Given the description of an element on the screen output the (x, y) to click on. 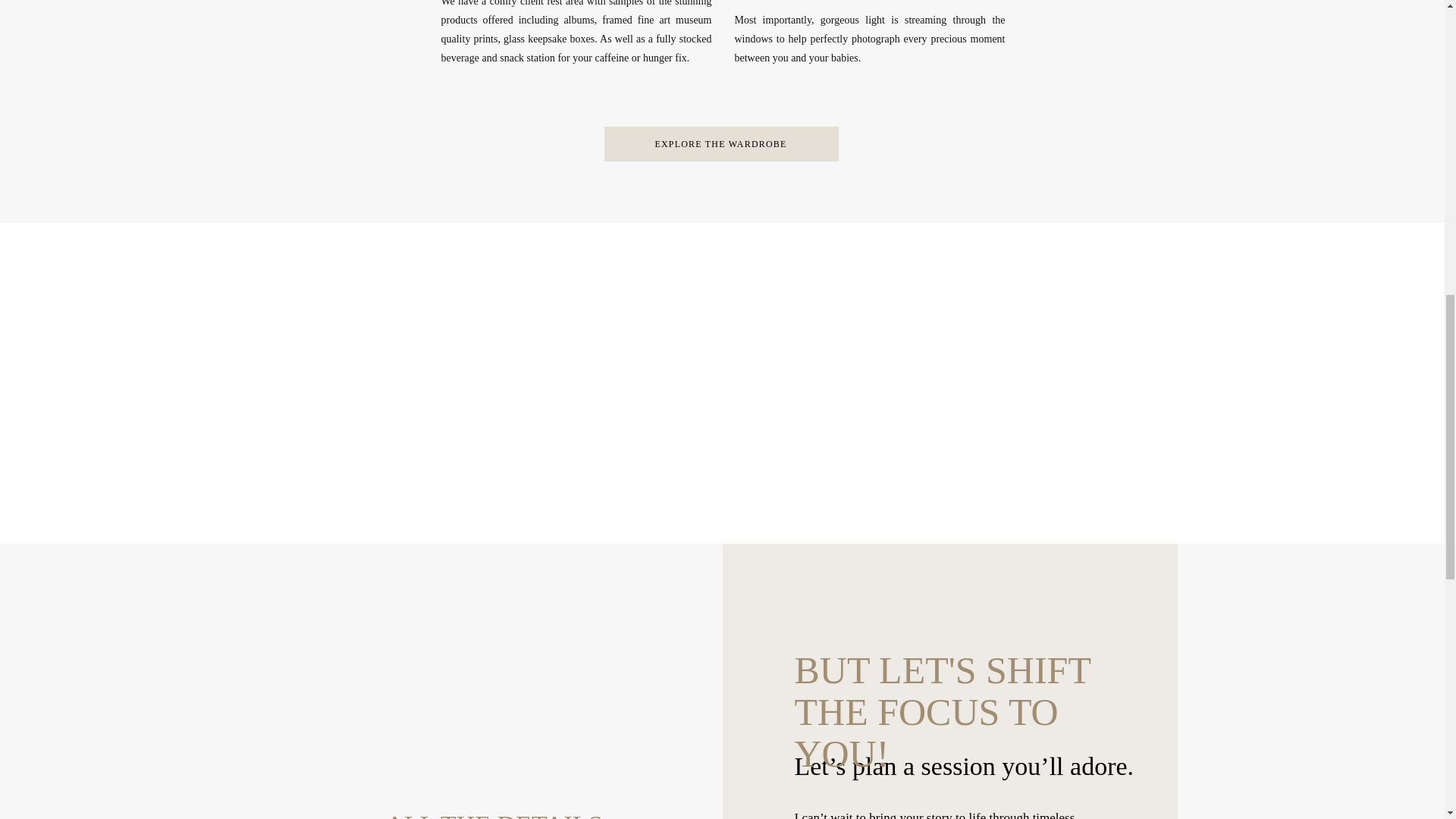
EXPLORE THE WARDROBE (720, 143)
